Given the description of an element on the screen output the (x, y) to click on. 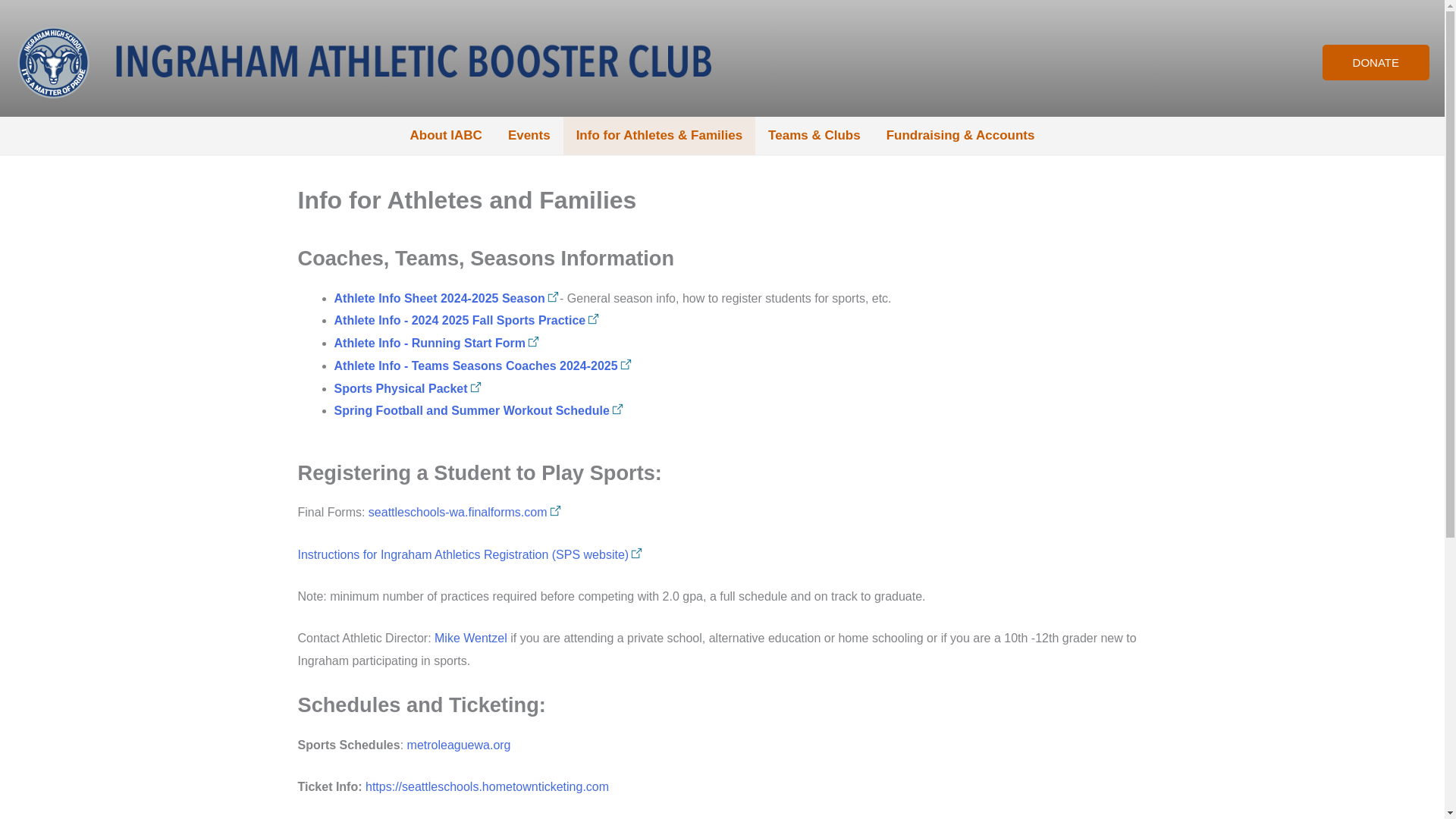
Events (529, 135)
About IABC (446, 135)
Athlete Info Sheet 2024-2025 Season (446, 297)
Athlete Info - Teams Seasons Coaches 2024-2025 (482, 365)
seattleschools-wa.finalforms.com (465, 512)
Sports Physical Packet (407, 388)
DONATE (1375, 63)
Athlete Info - 2024 2025 Fall Sports Practice (466, 319)
Mike Wentzel (469, 637)
Athlete Info - Running Start Form (436, 342)
